Given the description of an element on the screen output the (x, y) to click on. 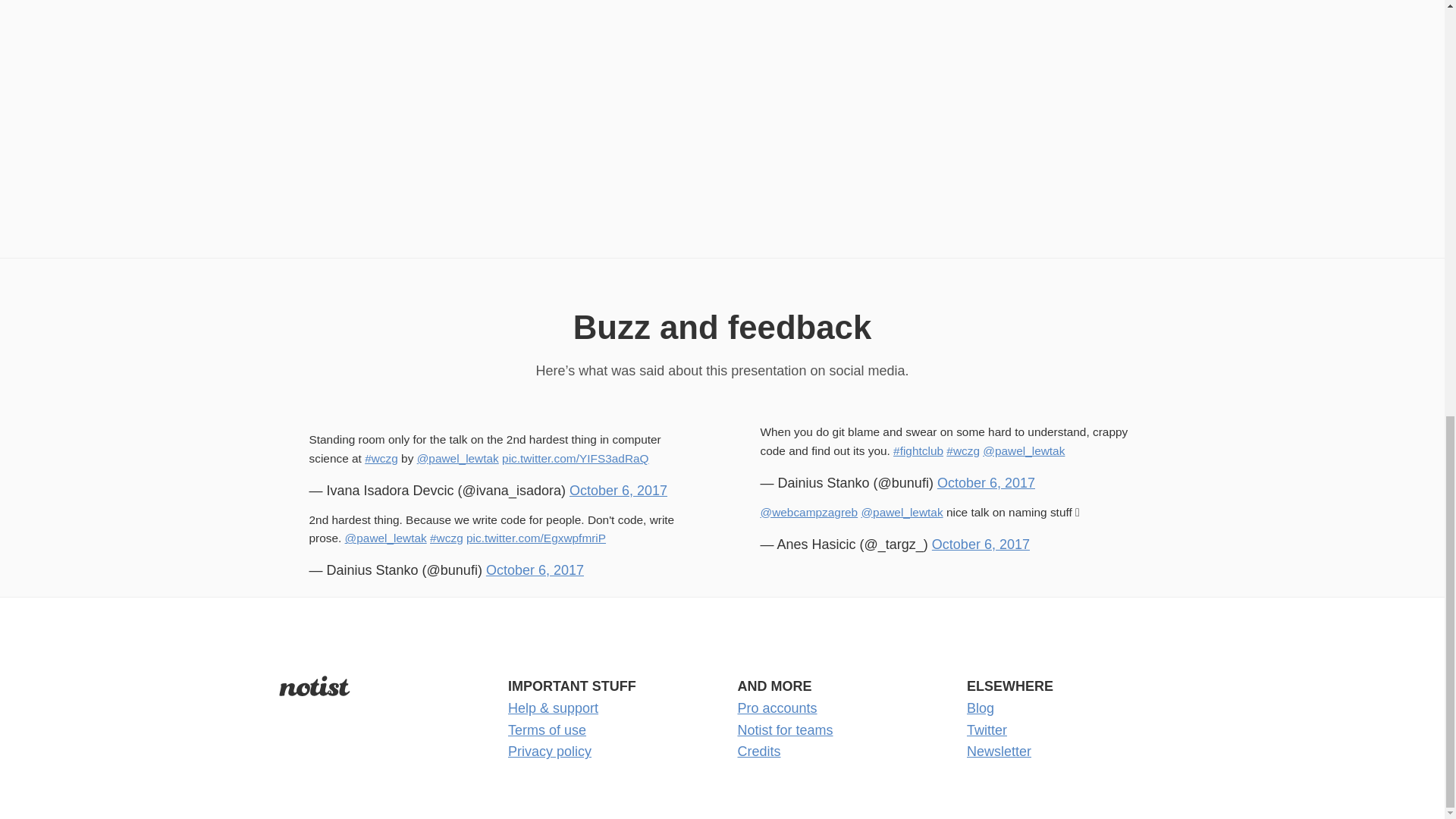
Terms of use (547, 729)
October 6, 2017 (986, 482)
Pro accounts (776, 708)
October 6, 2017 (534, 570)
Notist for teams (784, 729)
October 6, 2017 (980, 544)
Credits (758, 751)
October 6, 2017 (617, 490)
Privacy policy (549, 751)
